Given the description of an element on the screen output the (x, y) to click on. 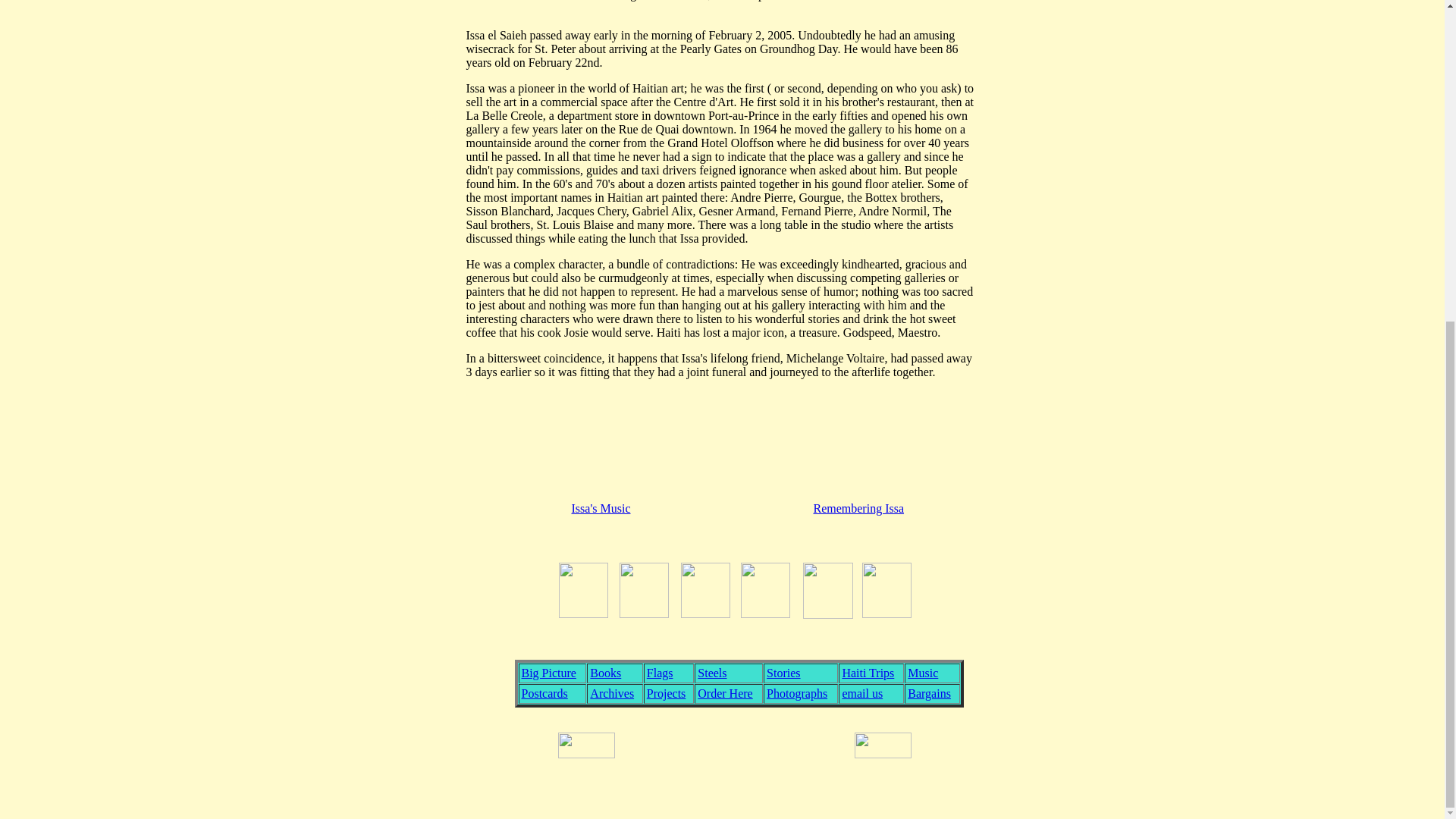
Bargains (928, 693)
Big Picture (548, 672)
Archives (611, 693)
Photographs (797, 693)
Remembering Issa (858, 508)
Music (922, 672)
Projects (665, 693)
Steels (711, 672)
Books (605, 672)
Postcards (544, 693)
Order Here (724, 693)
Stories (783, 672)
Issa's Music (601, 508)
Flags (659, 672)
Haiti Trips (867, 672)
